Given the description of an element on the screen output the (x, y) to click on. 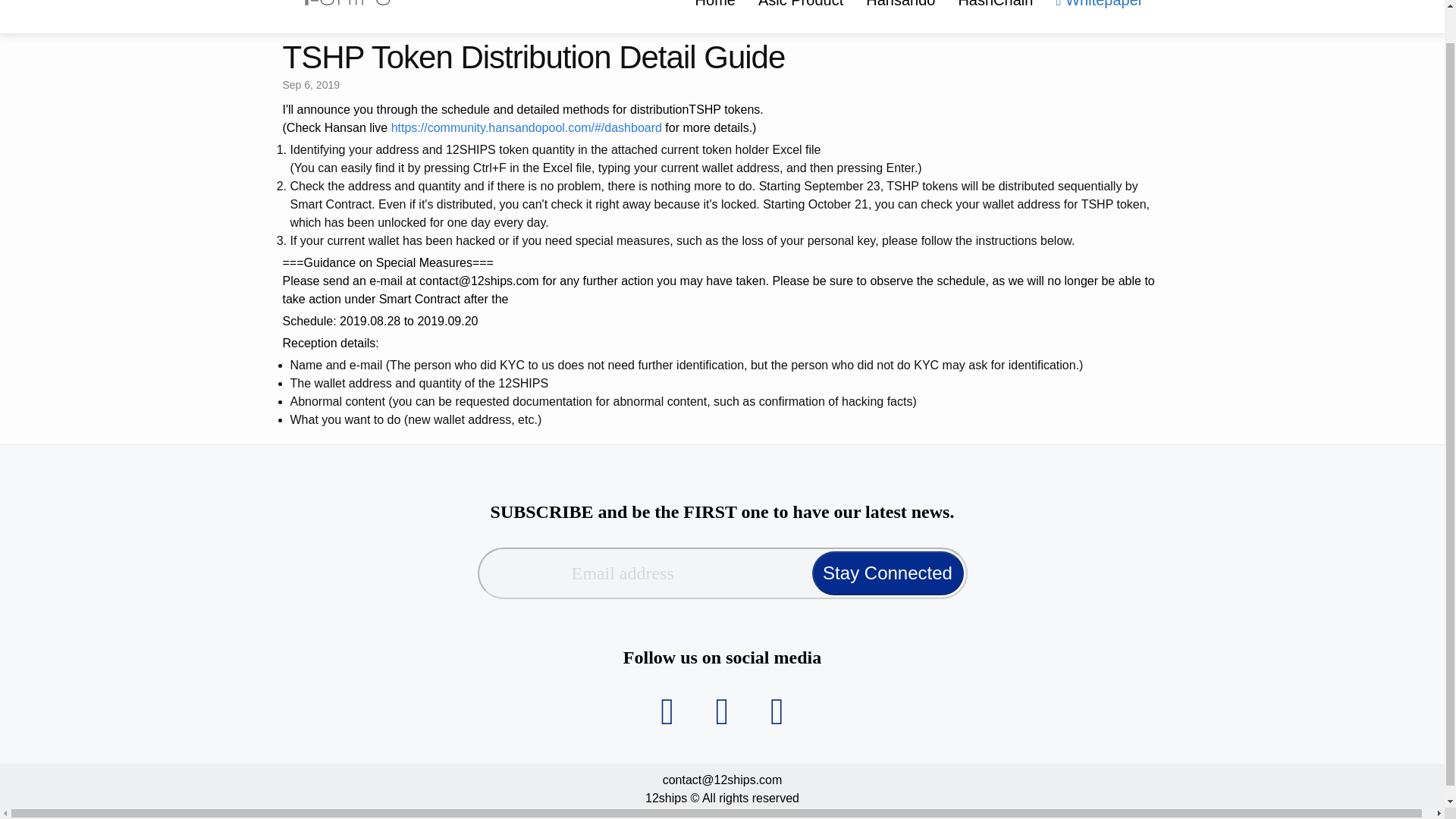
HashChain (994, 11)
Hansando (900, 11)
Whitepaper (1098, 11)
Stay Connected (886, 573)
Home (715, 11)
Asic Product (800, 11)
Stay Connected (886, 573)
